Given the description of an element on the screen output the (x, y) to click on. 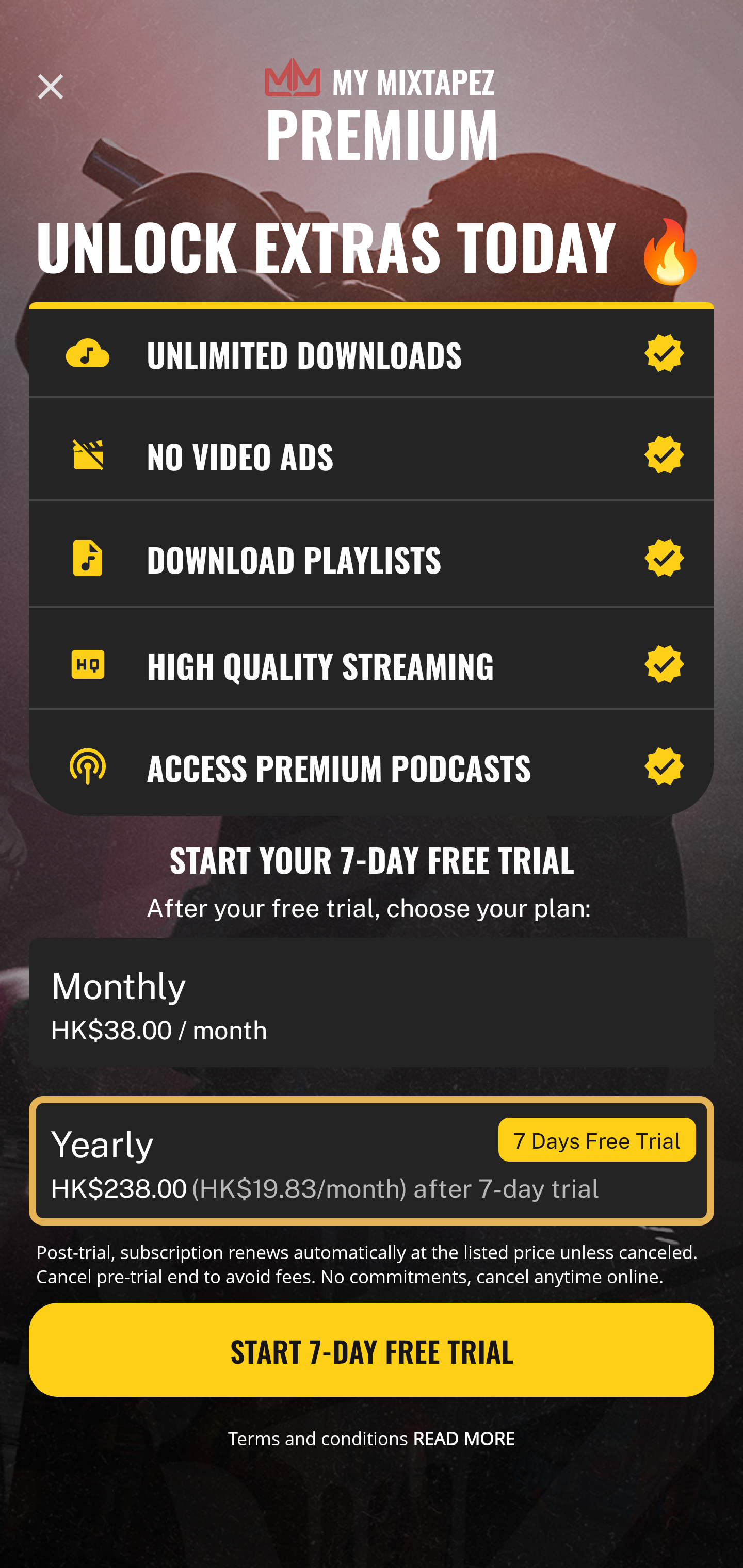
Description (50, 86)
Monthly HK$38.00 / month (371, 1002)
START 7-DAY FREE TRIAL (371, 1350)
Terms and conditions READ MORE (371, 1437)
